Given the description of an element on the screen output the (x, y) to click on. 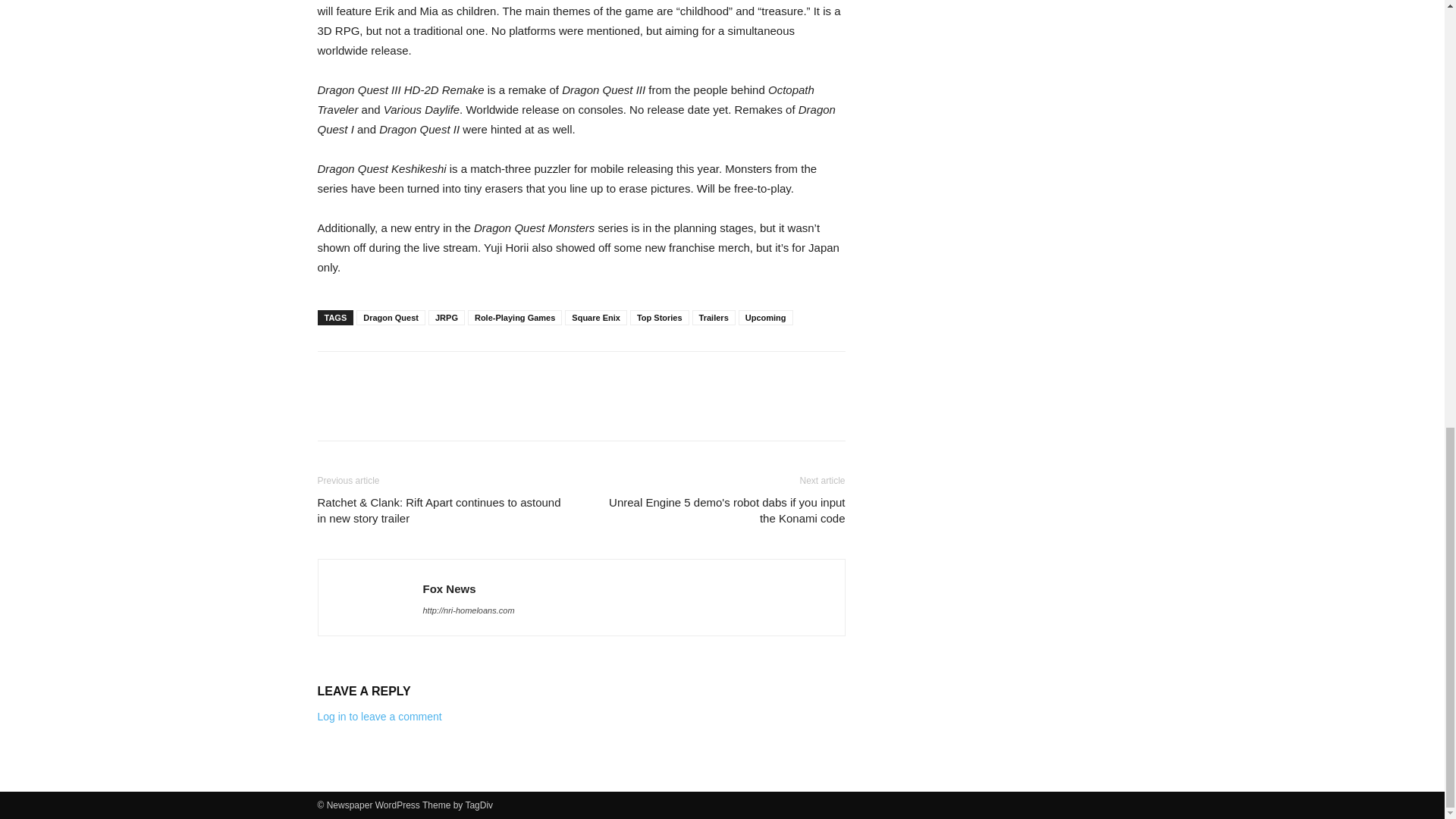
Upcoming (765, 317)
JRPG (446, 317)
Role-Playing Games (514, 317)
Dragon Quest (390, 317)
Trailers (714, 317)
bottomFacebookLike (430, 375)
Square Enix (595, 317)
Top Stories (659, 317)
